Given the description of an element on the screen output the (x, y) to click on. 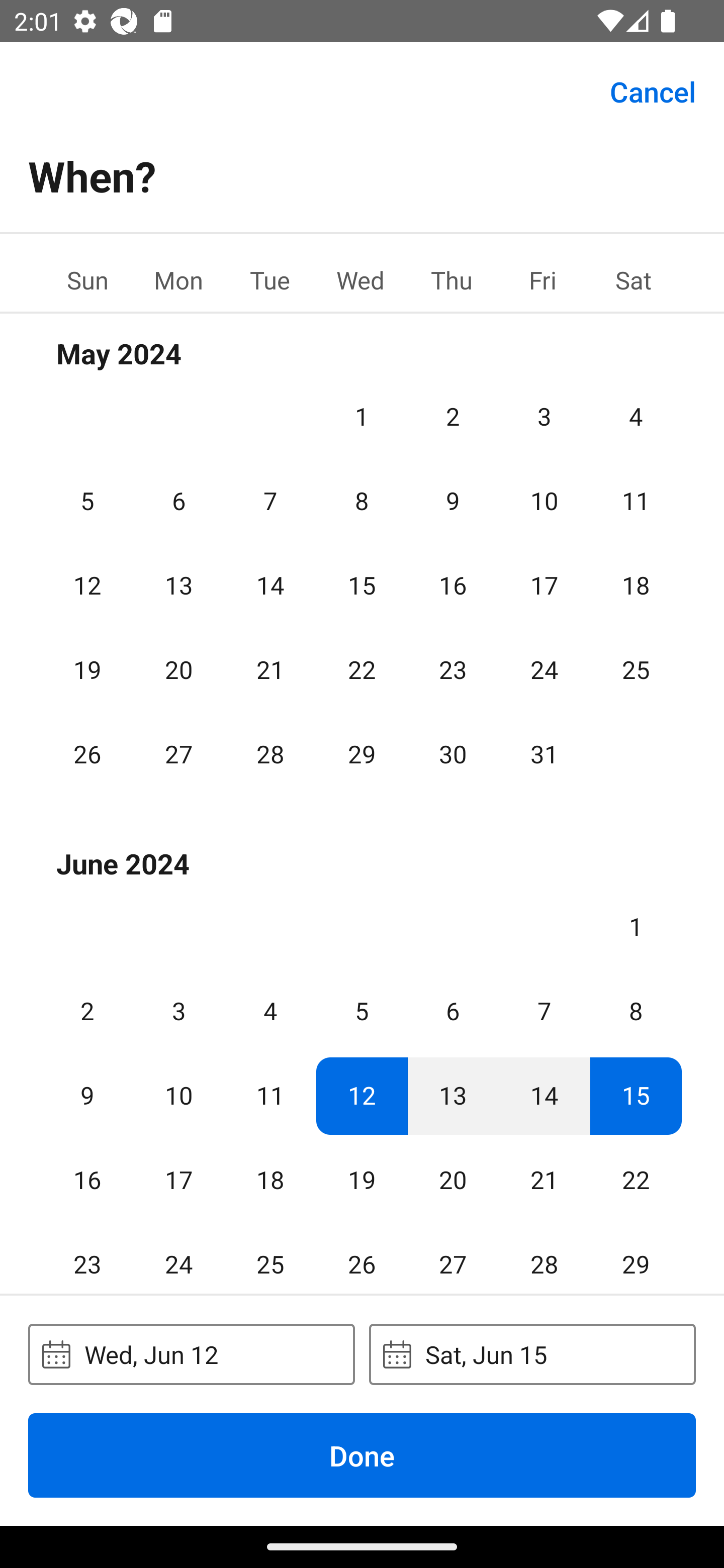
Cancel (652, 90)
Wed, Jun 12 (191, 1353)
Sat, Jun 15 (532, 1353)
Done (361, 1454)
